Given the description of an element on the screen output the (x, y) to click on. 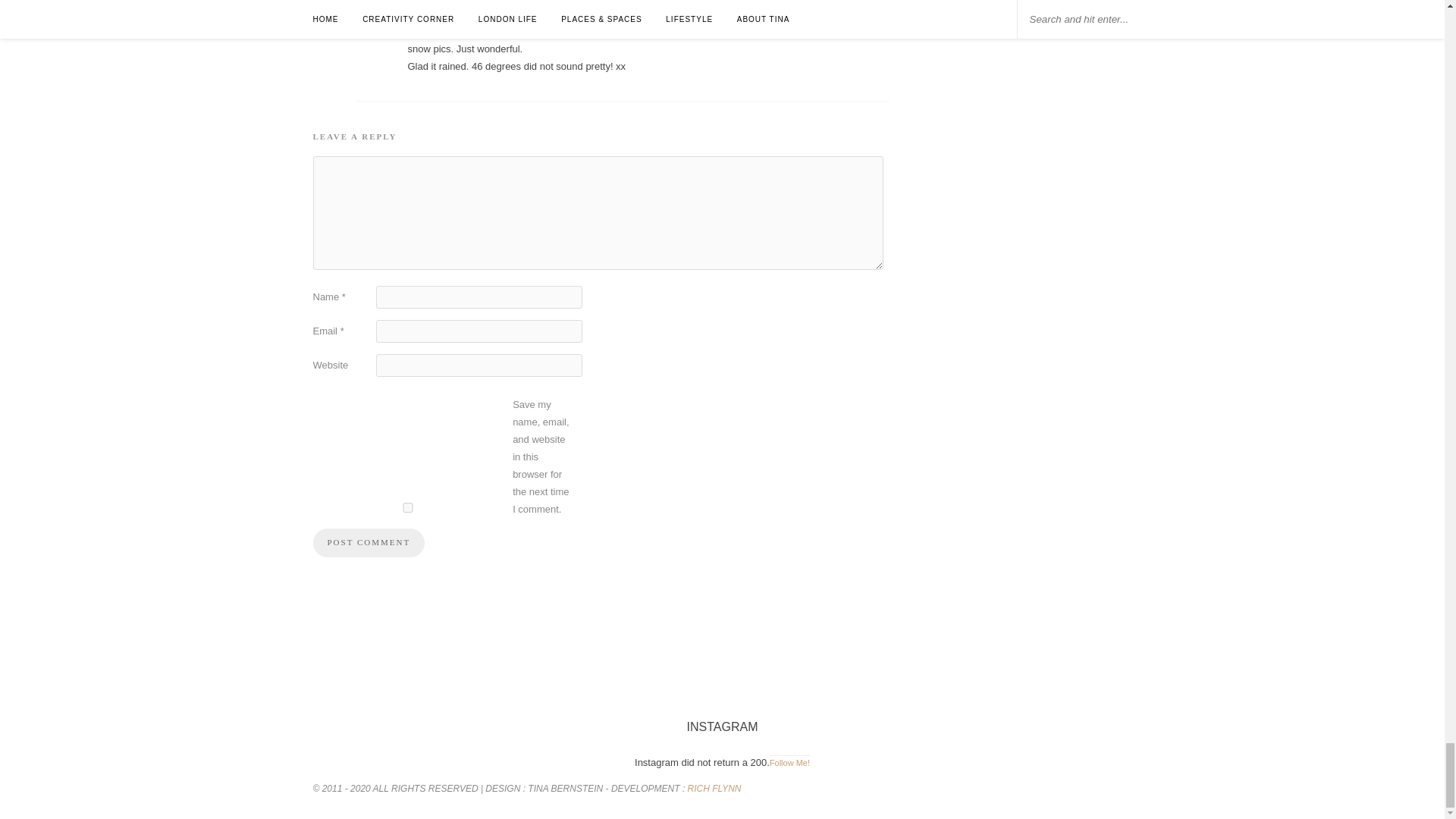
Post Comment (369, 542)
yes (407, 507)
